Given the description of an element on the screen output the (x, y) to click on. 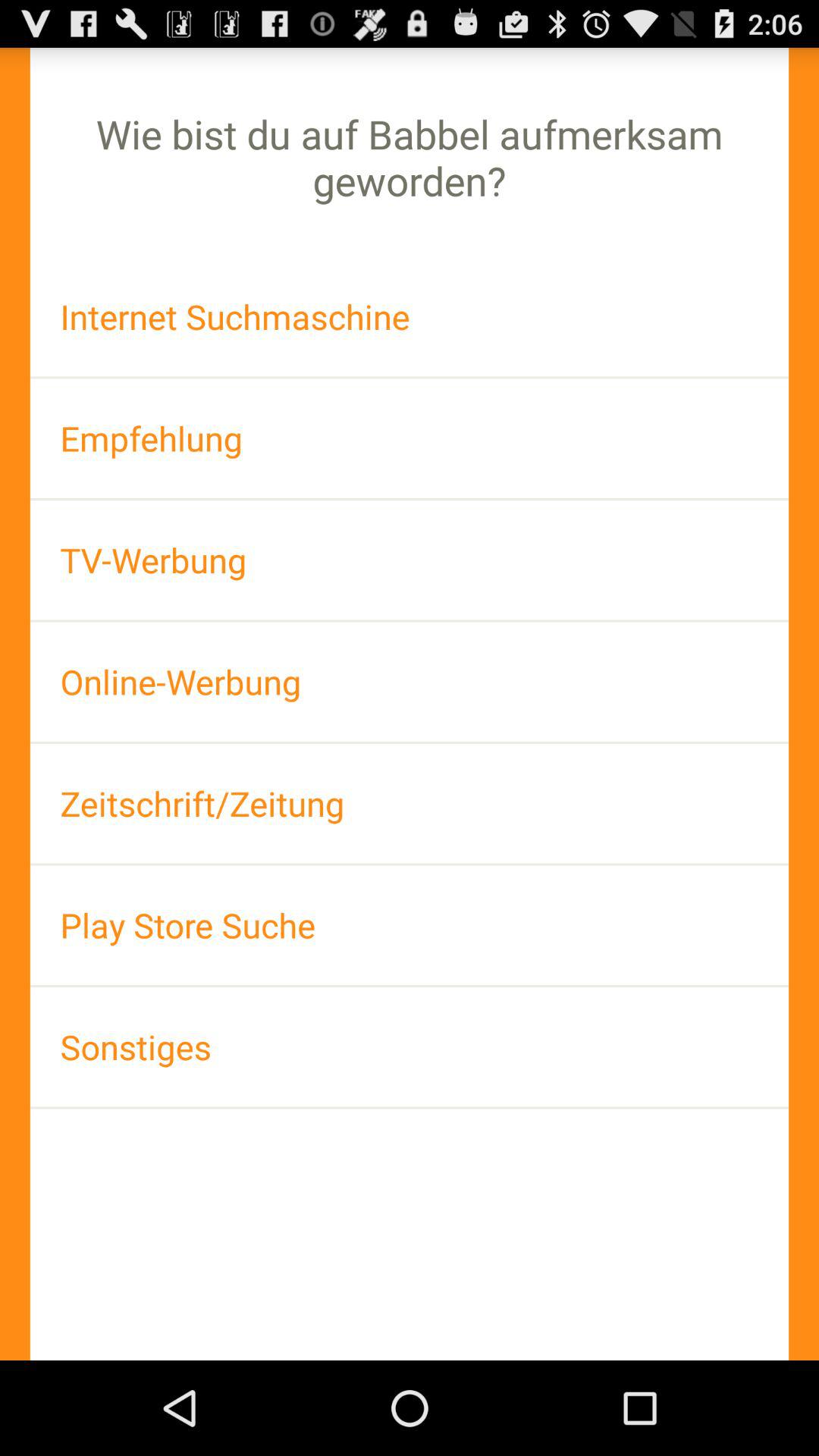
open the icon below empfehlung item (409, 559)
